Given the description of an element on the screen output the (x, y) to click on. 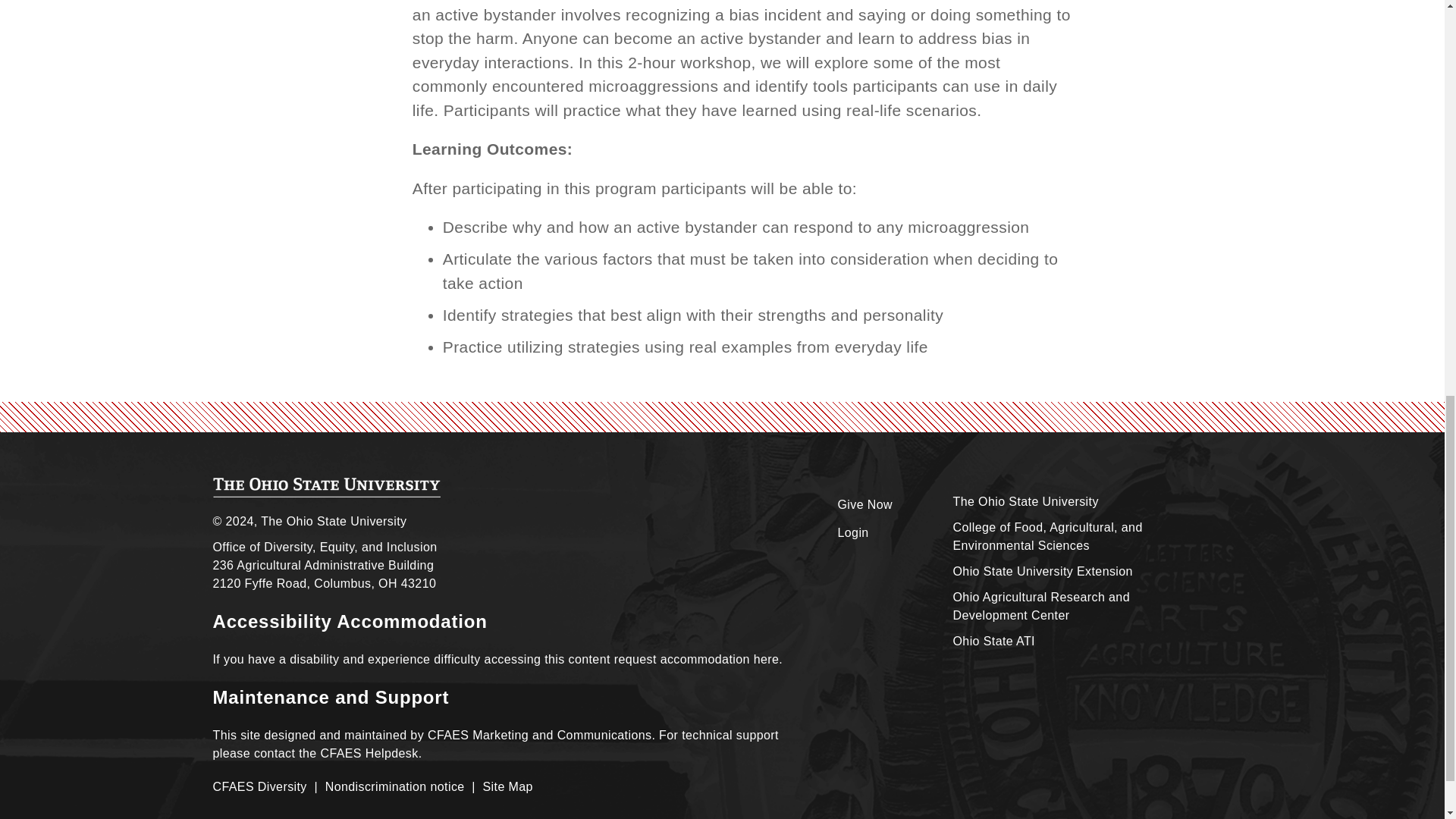
CFAES Home (325, 487)
